Given the description of an element on the screen output the (x, y) to click on. 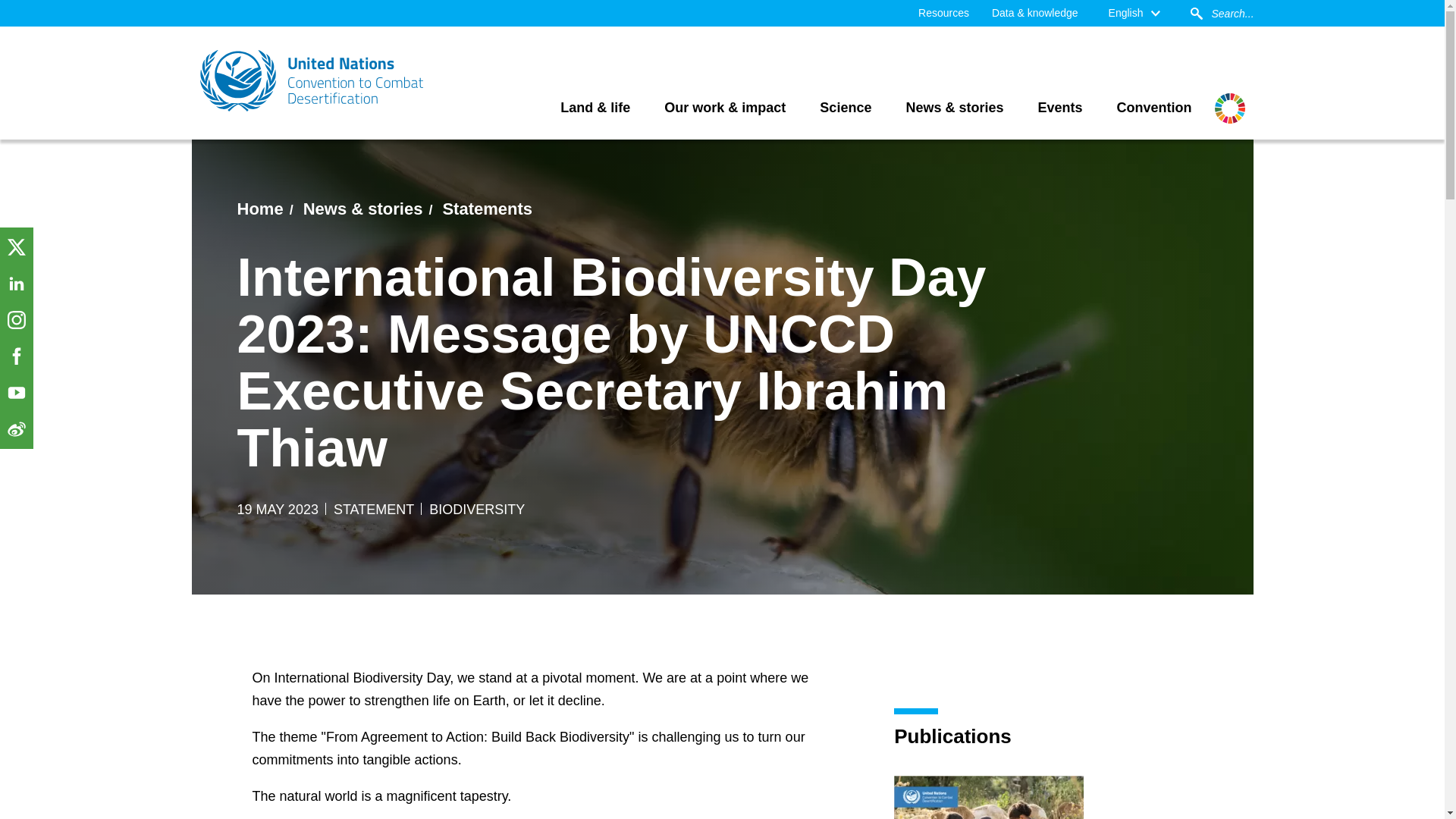
Events (1059, 108)
Convention (1154, 108)
English (1133, 12)
Science (845, 108)
Statements (487, 209)
UNCCD (312, 80)
Resources (943, 12)
Home (258, 209)
